Given the description of an element on the screen output the (x, y) to click on. 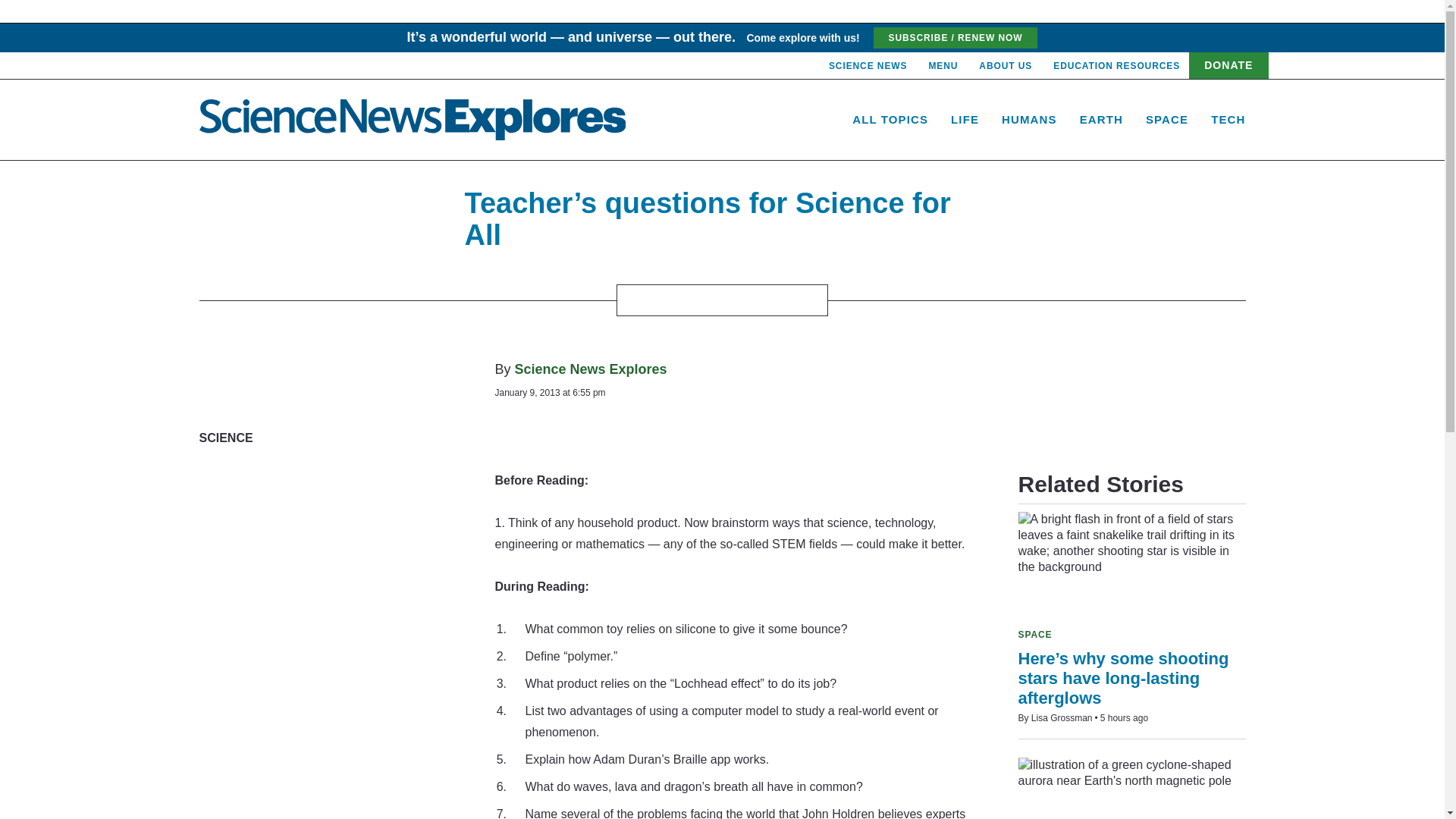
EDUCATION RESOURCES (1115, 65)
ABOUT US (1005, 65)
SCIENCE NEWS (867, 65)
Science News Explores (412, 119)
DONATE (1228, 65)
MENU (943, 65)
ALL TOPICS (889, 119)
Share via email (644, 300)
